Given the description of an element on the screen output the (x, y) to click on. 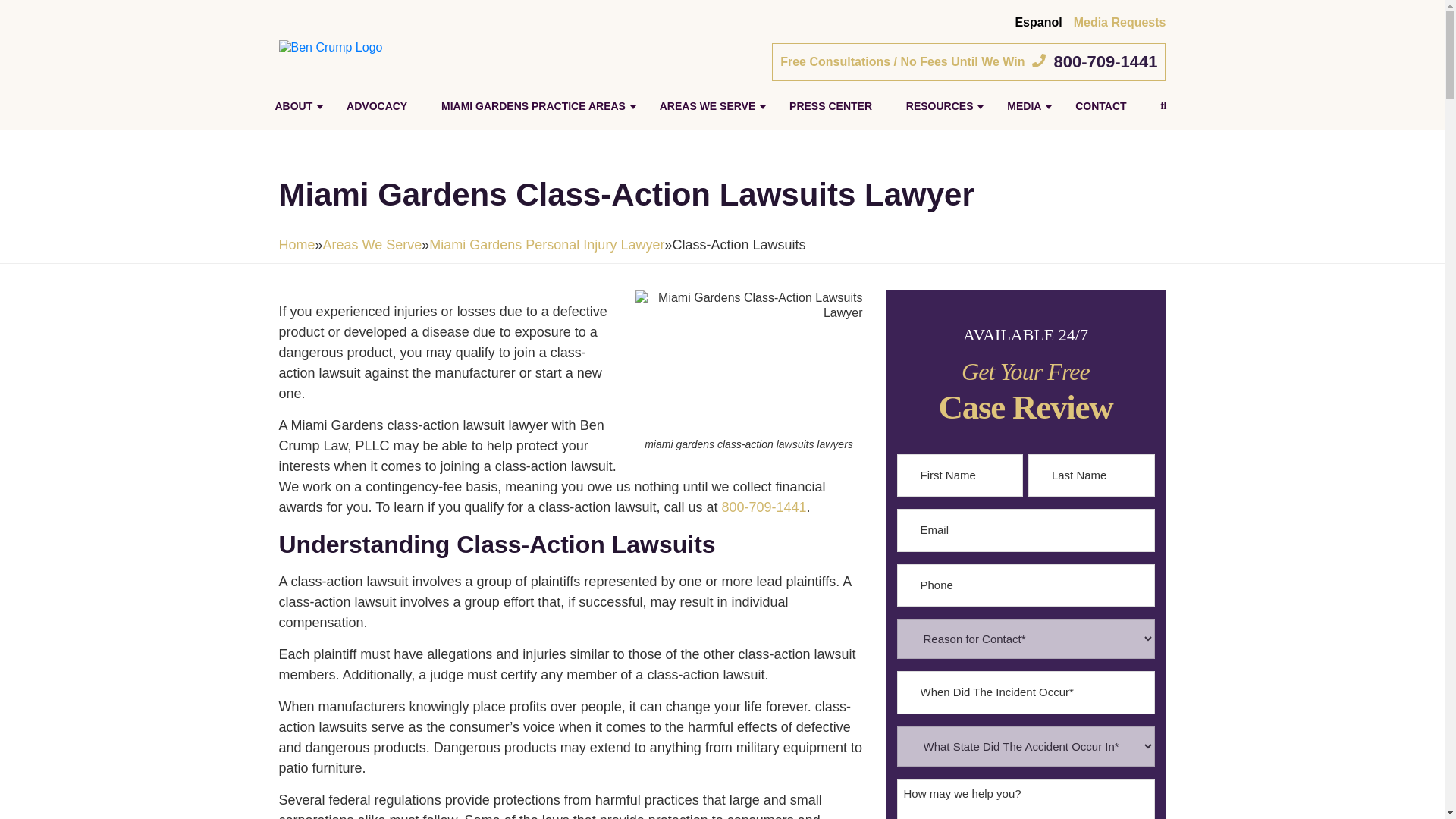
Ben Crump Logo (330, 48)
Espanol (1037, 21)
800-709-1441 (1104, 62)
MIAMI GARDENS PRACTICE AREAS (533, 105)
Ben Crump - Trial Lawyer for Justice (330, 47)
AREAS WE SERVE (707, 105)
PRESS CENTER (830, 105)
Media Requests (1120, 21)
ABOUT (293, 105)
ADVOCACY (376, 105)
